Given the description of an element on the screen output the (x, y) to click on. 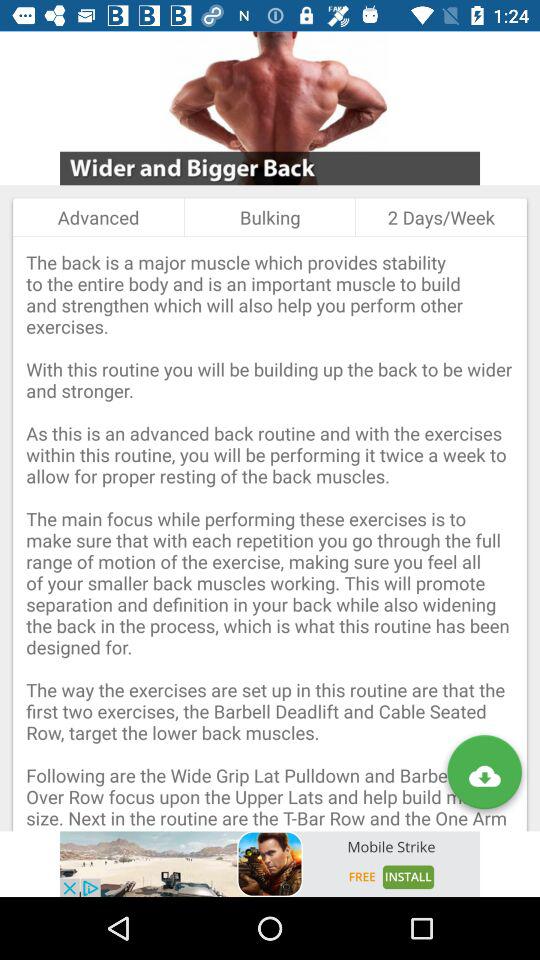
choose the advanced (98, 217)
